Given the description of an element on the screen output the (x, y) to click on. 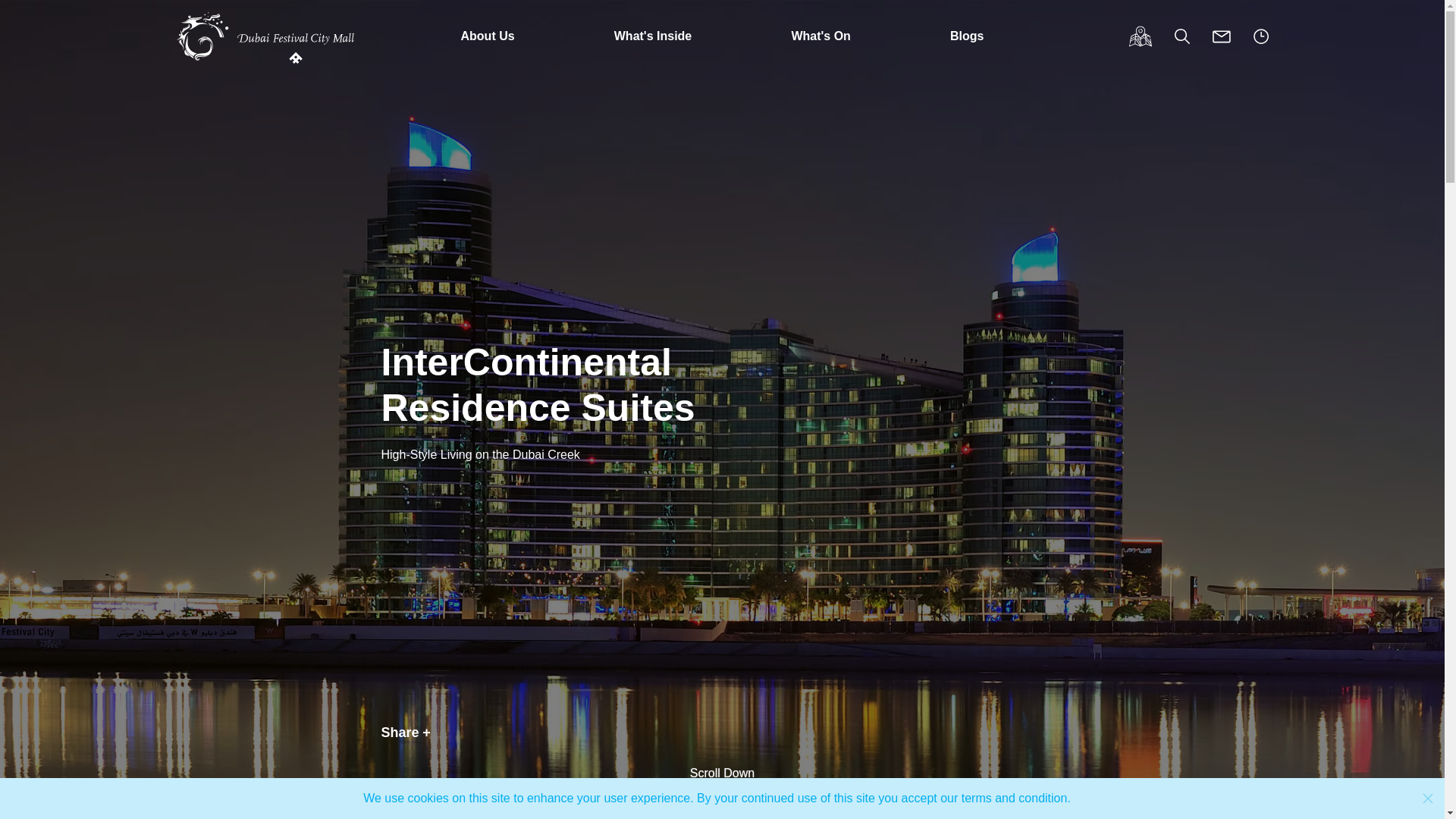
About Us (486, 36)
What's Inside (652, 36)
What's On (819, 36)
Scroll Down (722, 783)
Blogs (966, 36)
